Given the description of an element on the screen output the (x, y) to click on. 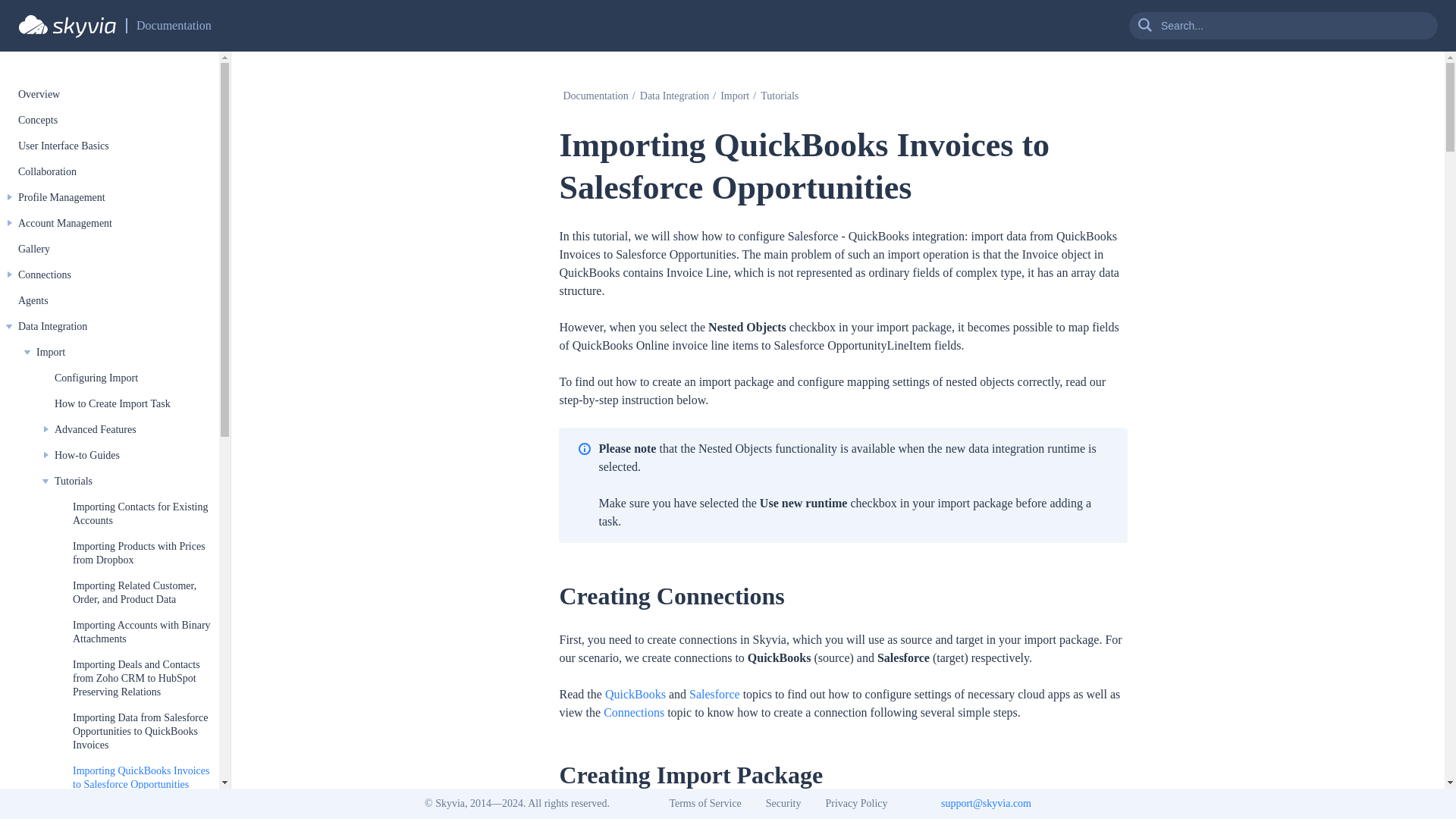
Advanced Features (95, 429)
User Interface Basics (63, 145)
Account Management (64, 223)
How-to Guides (87, 455)
Connections (44, 275)
Overview (38, 94)
Data Integration (52, 326)
Collaboration (47, 171)
Tutorials (74, 481)
Import (50, 352)
Gallery (33, 249)
Documentation (173, 25)
Configuring Import (96, 378)
Agents (32, 300)
Import (734, 96)
